Given the description of an element on the screen output the (x, y) to click on. 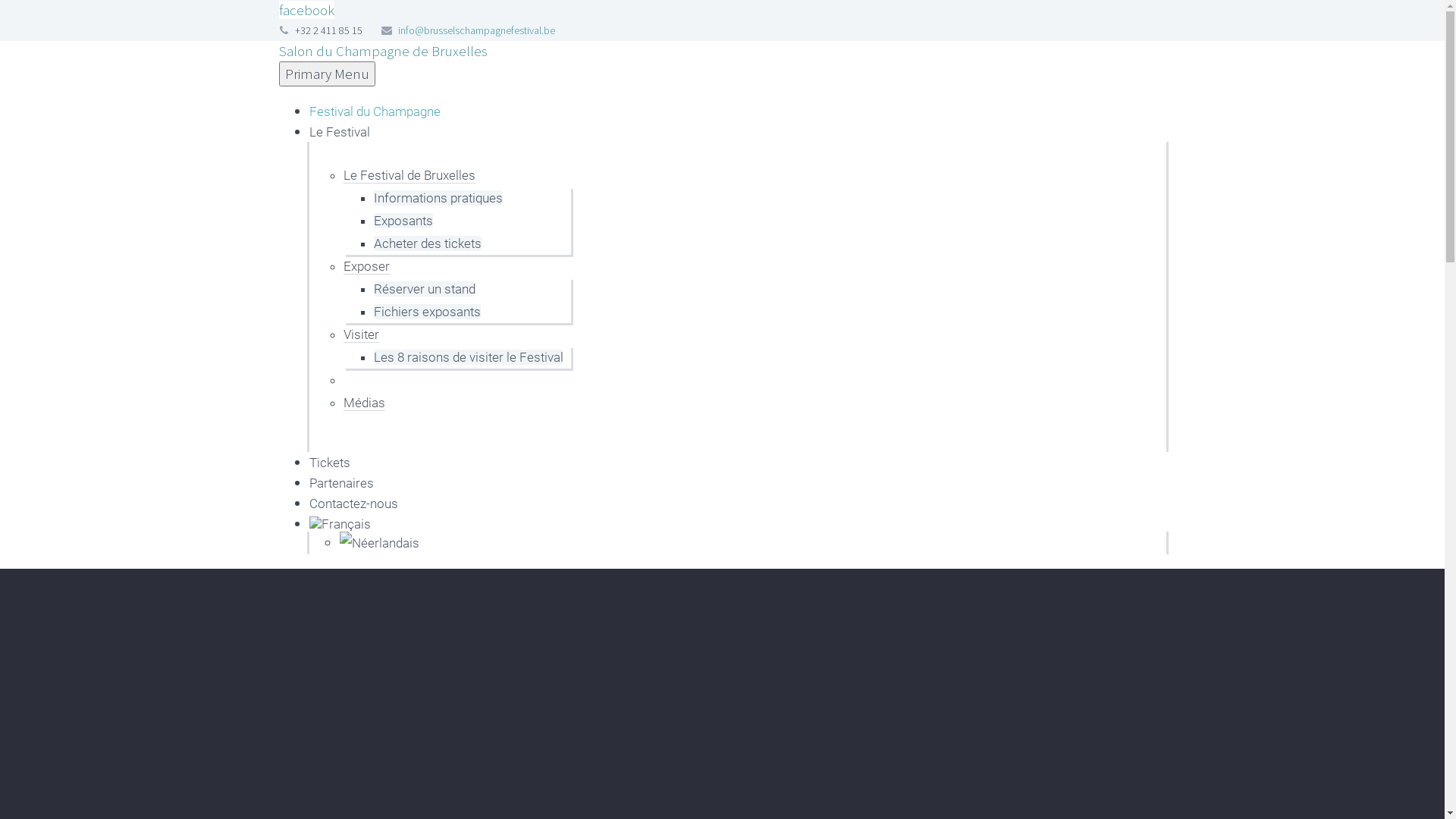
Tickets Element type: text (329, 462)
Visiter Element type: text (360, 334)
Exposants Element type: text (402, 220)
Acheter des tickets Element type: text (426, 243)
Contactez-nous Element type: text (353, 503)
Partenaires Element type: text (341, 482)
Fichiers exposants Element type: text (426, 311)
Primary Menu Element type: text (327, 73)
Le Festival de Bruxelles Element type: text (408, 174)
Les 8 raisons de visiter le Festival Element type: text (467, 356)
Salon du Champagne de Bruxelles Element type: text (383, 50)
facebook Element type: text (306, 9)
Informations pratiques Element type: text (437, 197)
Exposer Element type: text (365, 265)
info@brusselschampagnefestival.be Element type: text (476, 30)
Festival du Champagne Element type: text (374, 111)
Le Festival Element type: text (339, 131)
